Given the description of an element on the screen output the (x, y) to click on. 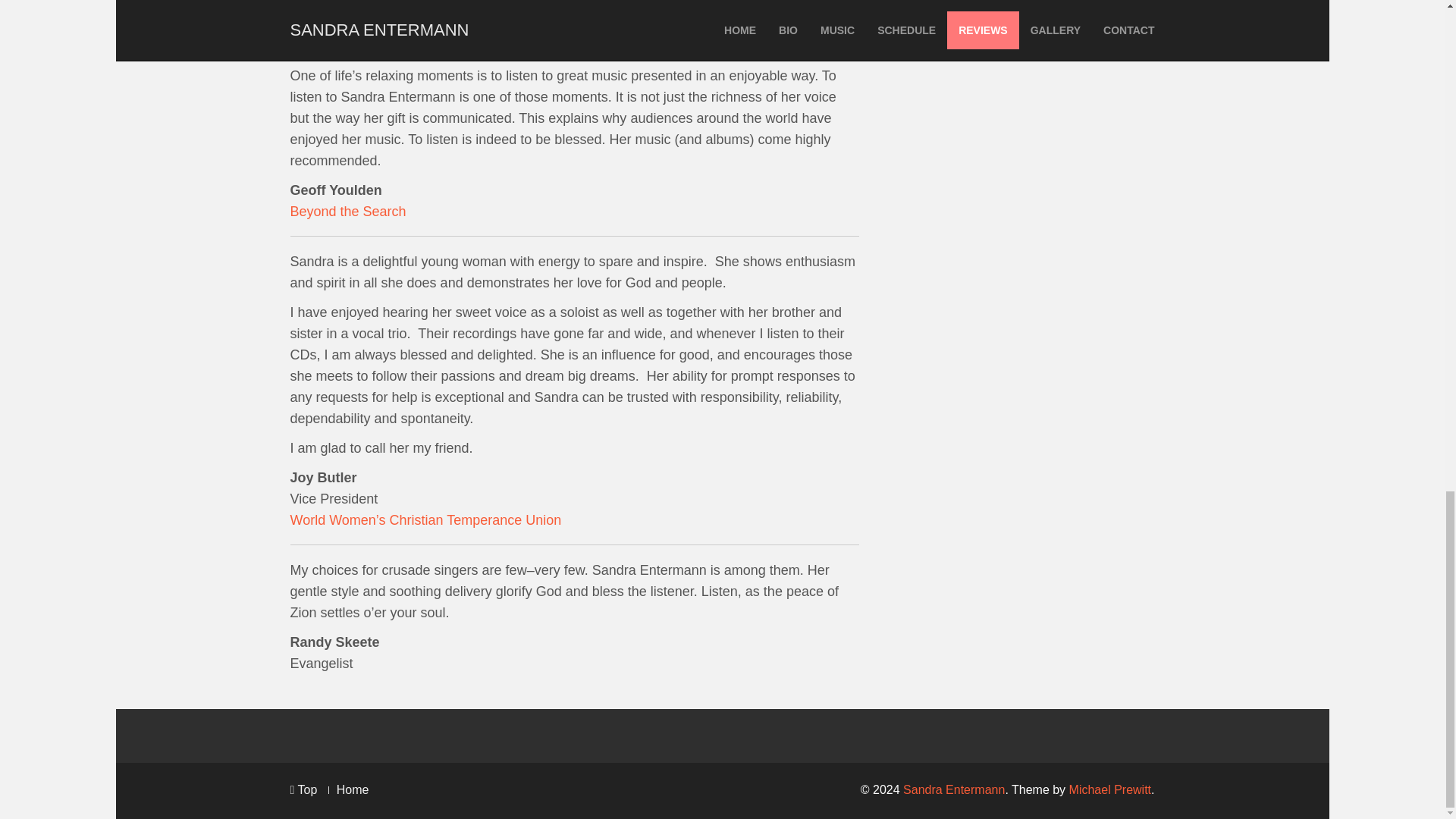
Beyond the Search (347, 211)
Michael Prewitt (1109, 789)
Back to top of page (303, 789)
Home (352, 789)
Home (352, 789)
Violinist (312, 25)
Top (303, 789)
Sandra Entermann (953, 789)
Top (303, 789)
